Given the description of an element on the screen output the (x, y) to click on. 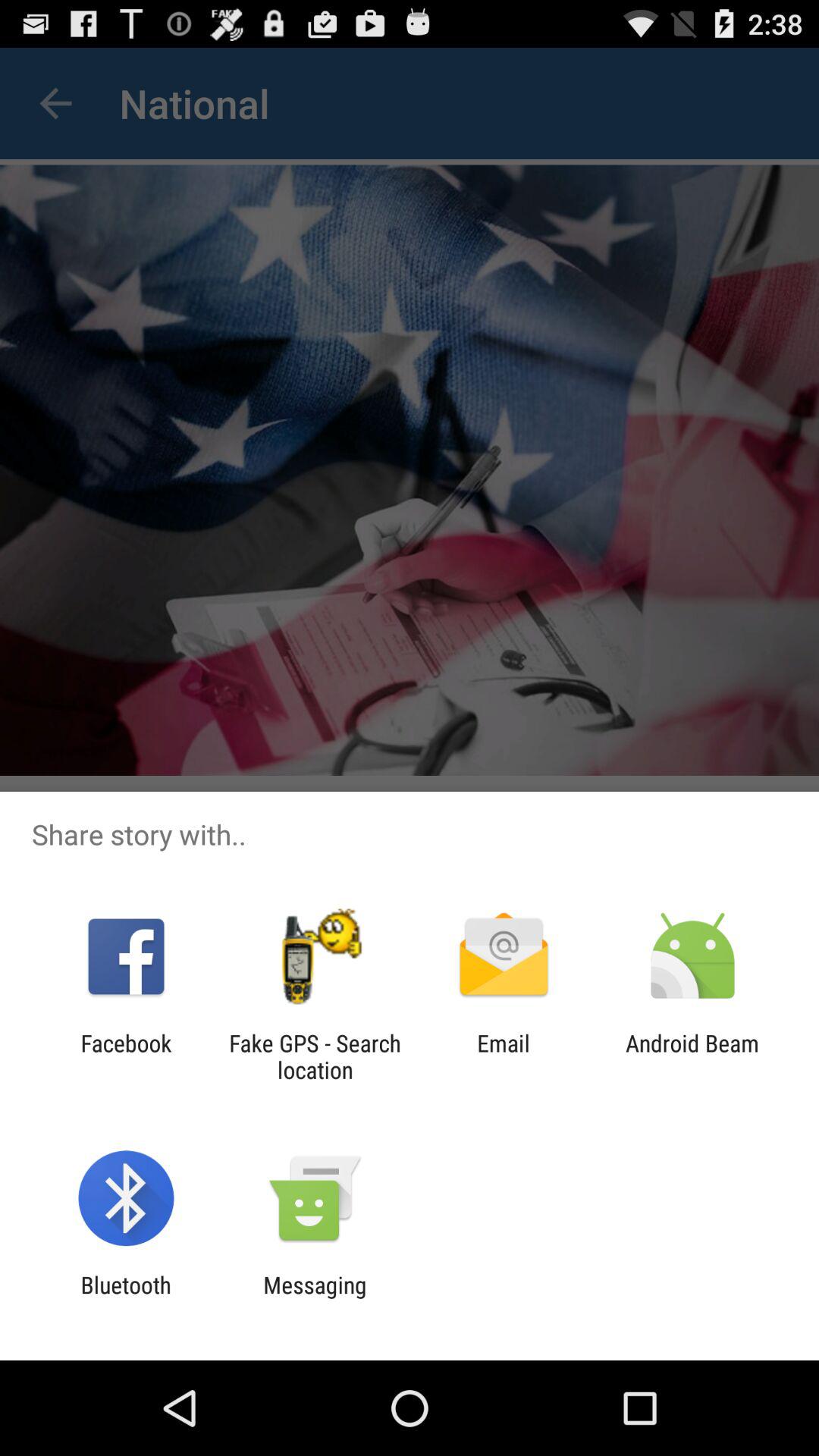
turn on app to the left of messaging app (125, 1298)
